Given the description of an element on the screen output the (x, y) to click on. 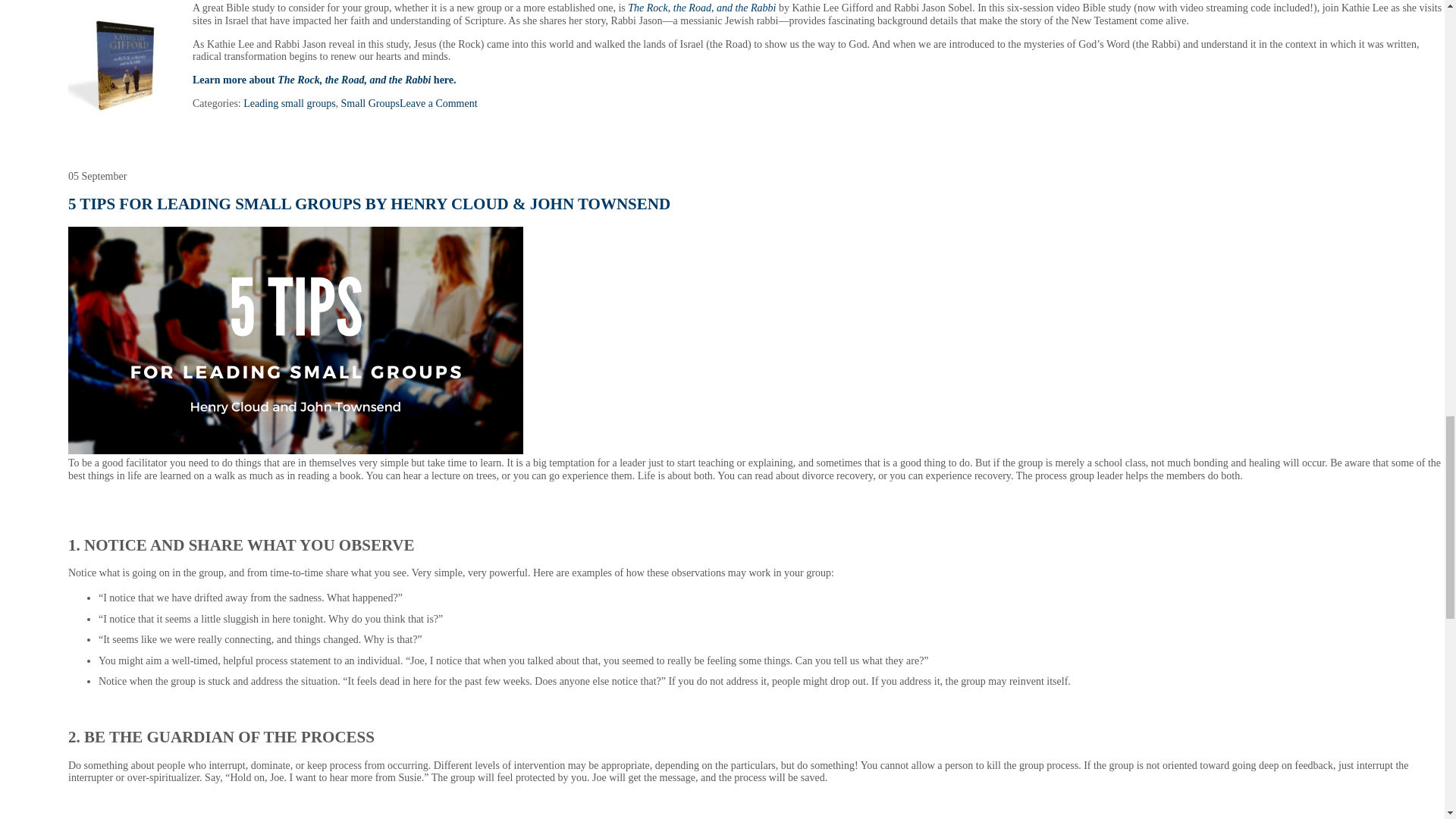
Learn more about The Rock, the Road, and the Rabbi here. (324, 79)
Small Groups (369, 102)
The Rock, the Road, and the Rabbi (701, 7)
Leading small groups (288, 102)
